Given the description of an element on the screen output the (x, y) to click on. 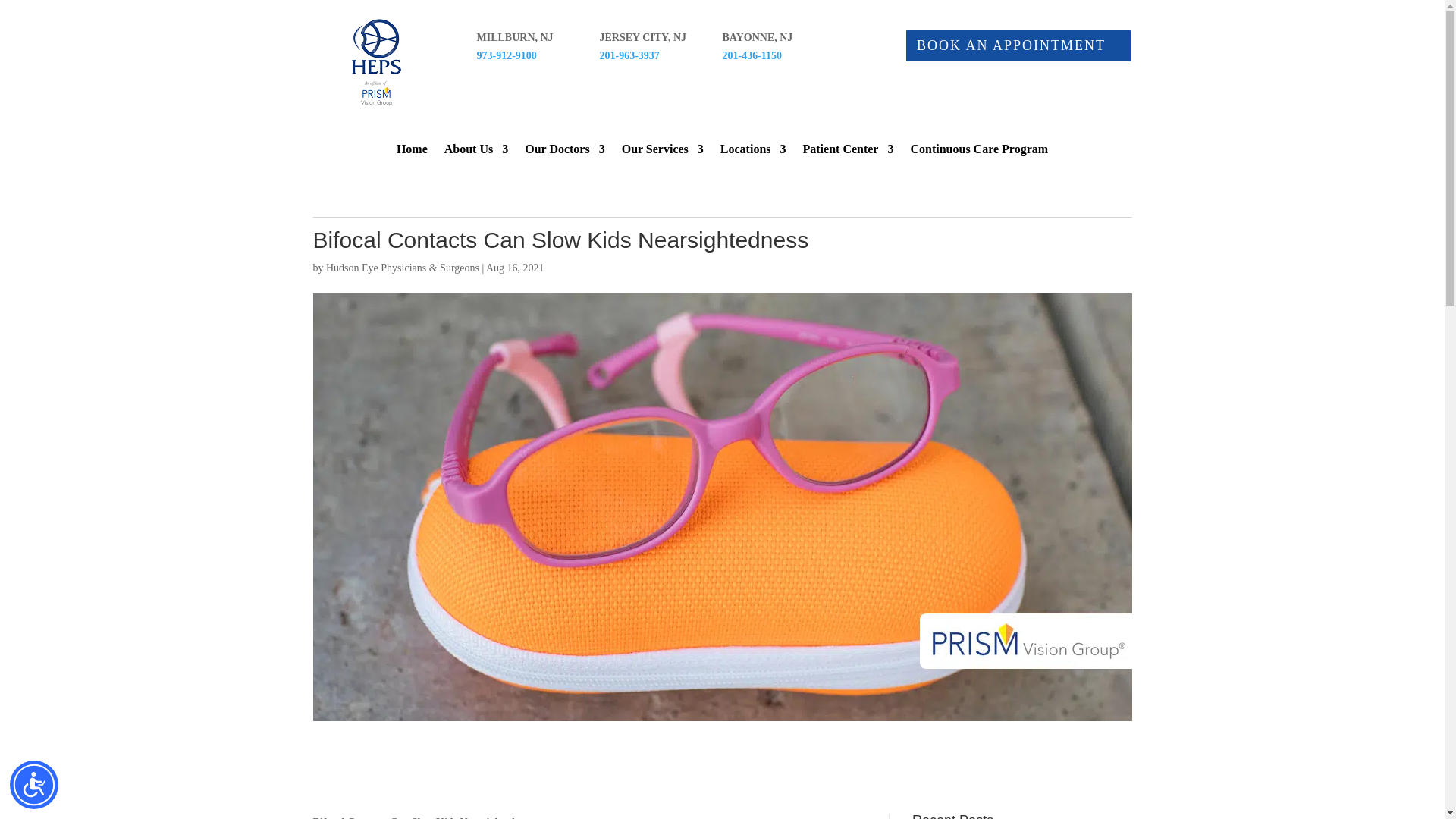
201-963-3937 (628, 55)
About Us (476, 152)
Accessibility Menu (34, 784)
Home (412, 152)
973-912-9100 (505, 55)
Our Services (662, 152)
Our Doctors (564, 152)
201-436-1150 (751, 55)
BOOK AN APPOINTMENT (1017, 45)
